Given the description of an element on the screen output the (x, y) to click on. 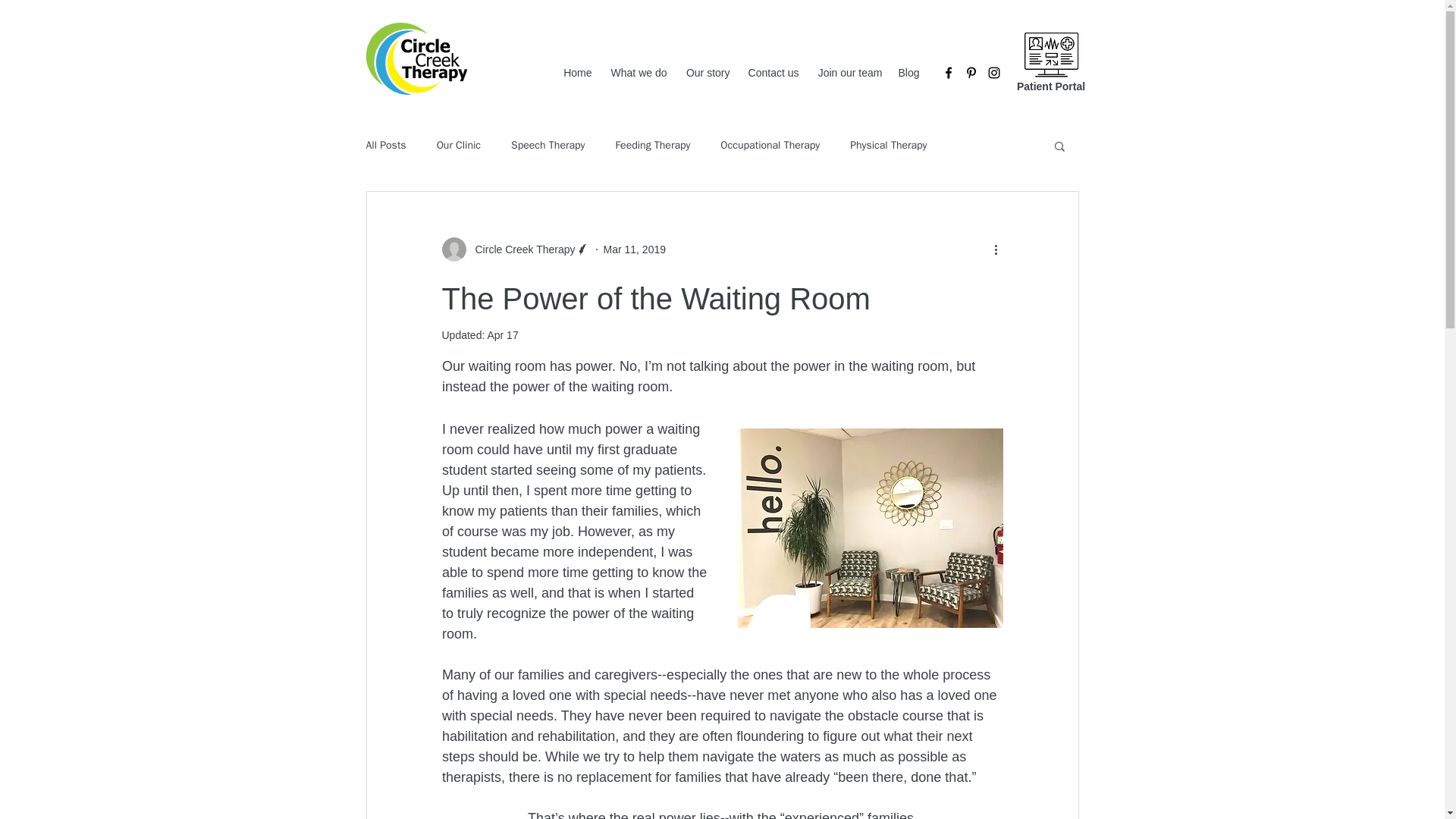
Circle Creek Therapy (520, 248)
Occupational Therapy (769, 145)
Speech Therapy (548, 145)
Our story (706, 72)
Patient Protal (1050, 53)
Physical Therapy (888, 145)
Feeding Therapy (652, 145)
Join our team (847, 72)
Contact us (771, 72)
Mar 11, 2019 (635, 248)
What we do (636, 72)
Blog (908, 72)
Our Clinic (458, 145)
Home (576, 72)
All Posts (385, 145)
